Given the description of an element on the screen output the (x, y) to click on. 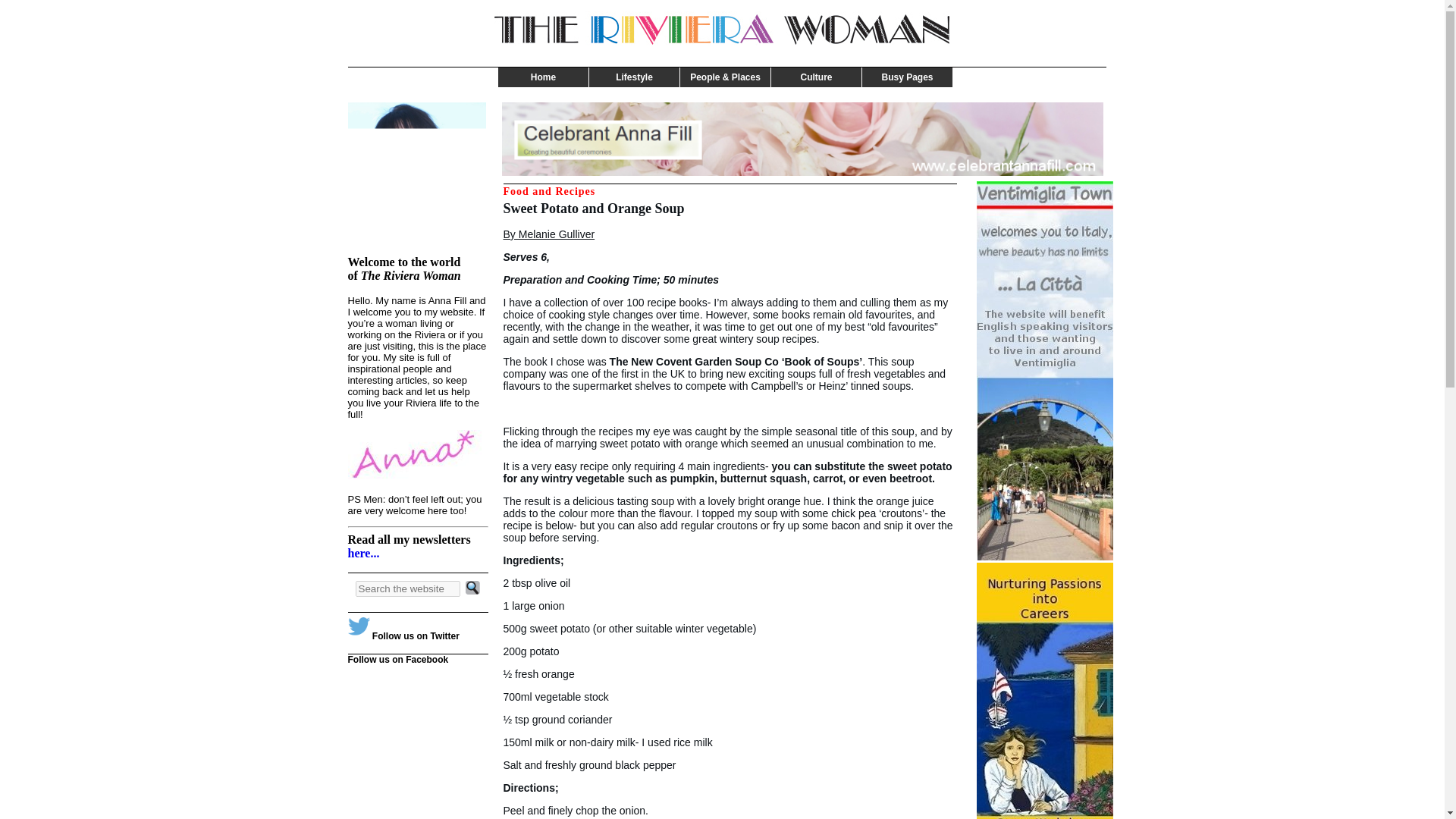
Home (543, 76)
Culture (816, 76)
Busy Pages (907, 76)
Lifestyle (634, 76)
here... (362, 553)
Find articles containing this text (472, 587)
CelebrantAnnaFill (802, 139)
Find articles containing this text (407, 588)
twitter (367, 623)
